Given the description of an element on the screen output the (x, y) to click on. 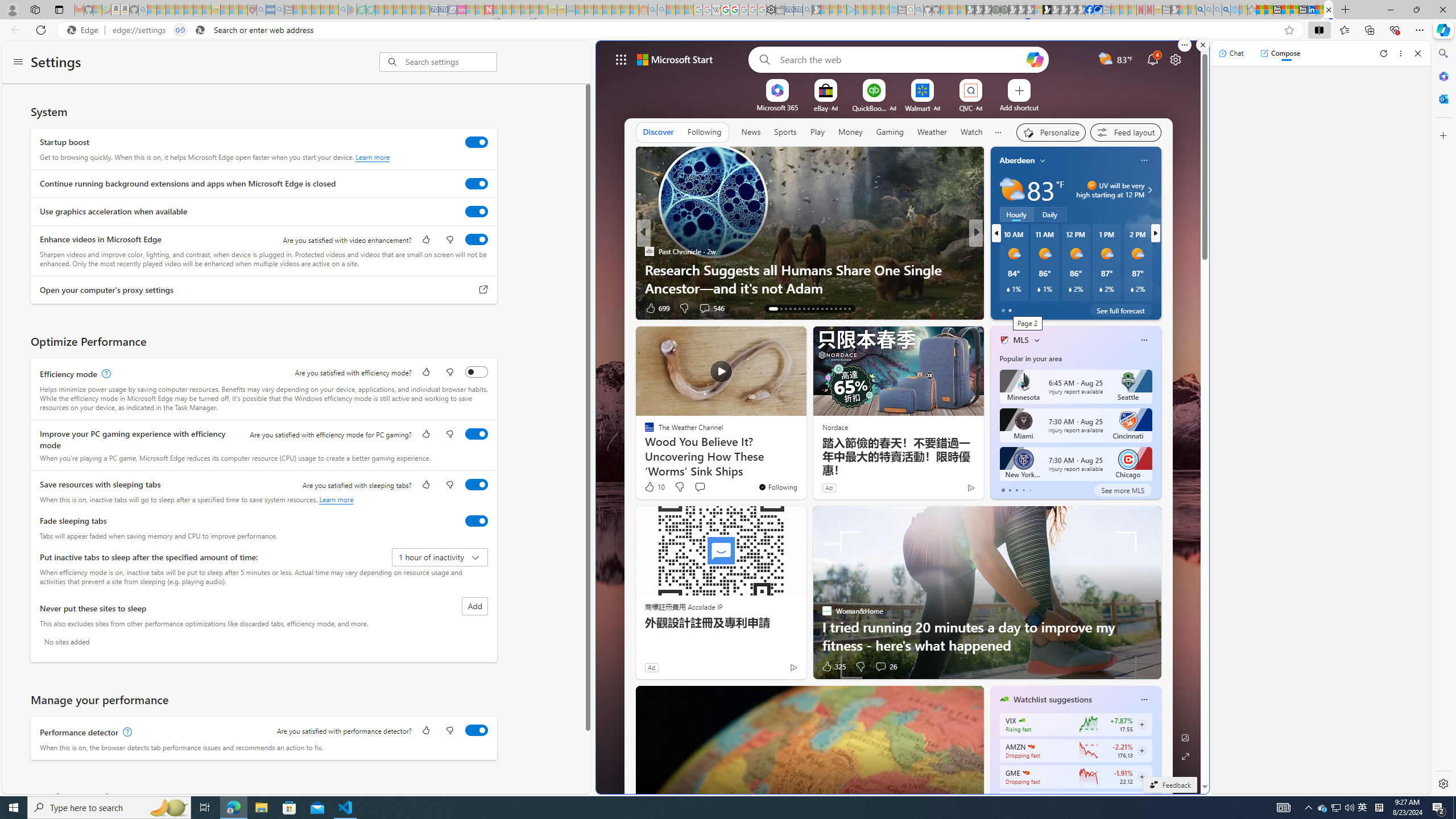
Favorites - Sleeping (1251, 9)
View comments 6 Comment (1051, 307)
AMAZON.COM, INC. (1030, 746)
AutomationID: tab-25 (831, 308)
Watch (971, 132)
App launcher (620, 59)
Sign in to your account - Sleeping (1038, 9)
tab-2 (1016, 489)
Performance detector, learn more (126, 732)
